Given the description of an element on the screen output the (x, y) to click on. 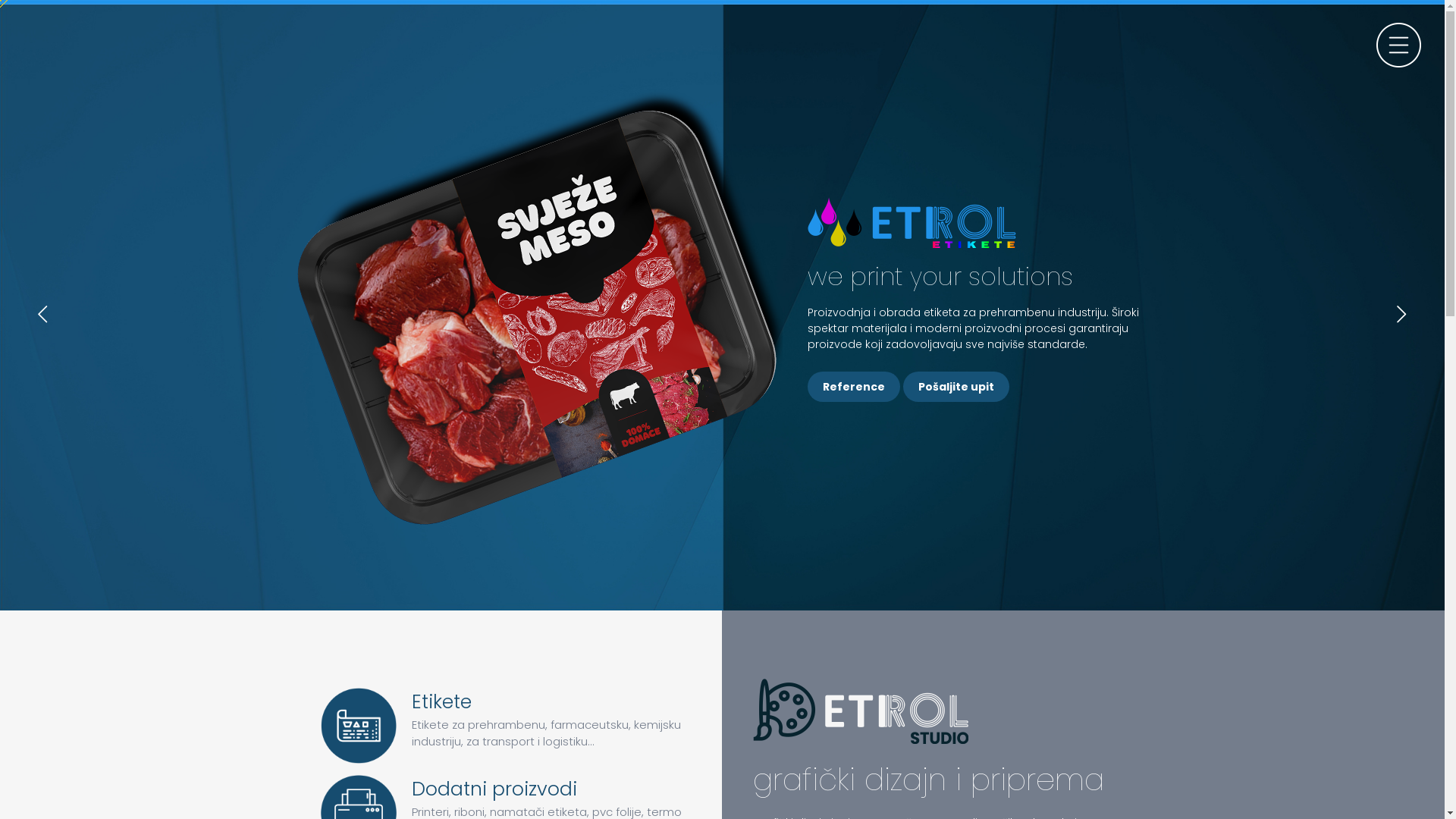
Reference Element type: text (853, 386)
